Given the description of an element on the screen output the (x, y) to click on. 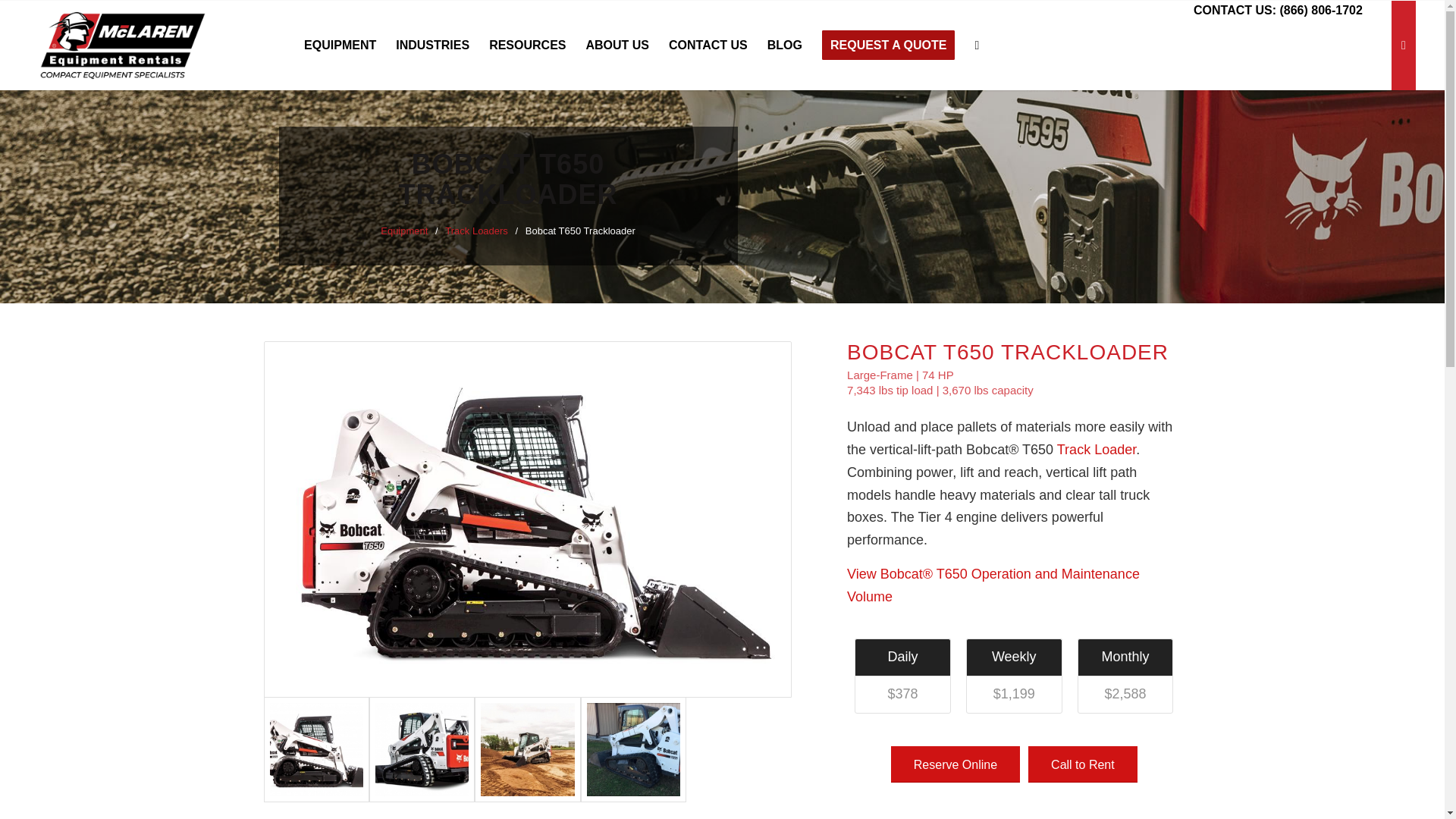
Equipment (403, 230)
EQUIPMENT (339, 45)
INDUSTRIES (432, 45)
ABOUT US (617, 45)
Track Loaders (476, 230)
RESOURCES (527, 45)
REQUEST A QUOTE (888, 45)
CONTACT US (708, 45)
